Given the description of an element on the screen output the (x, y) to click on. 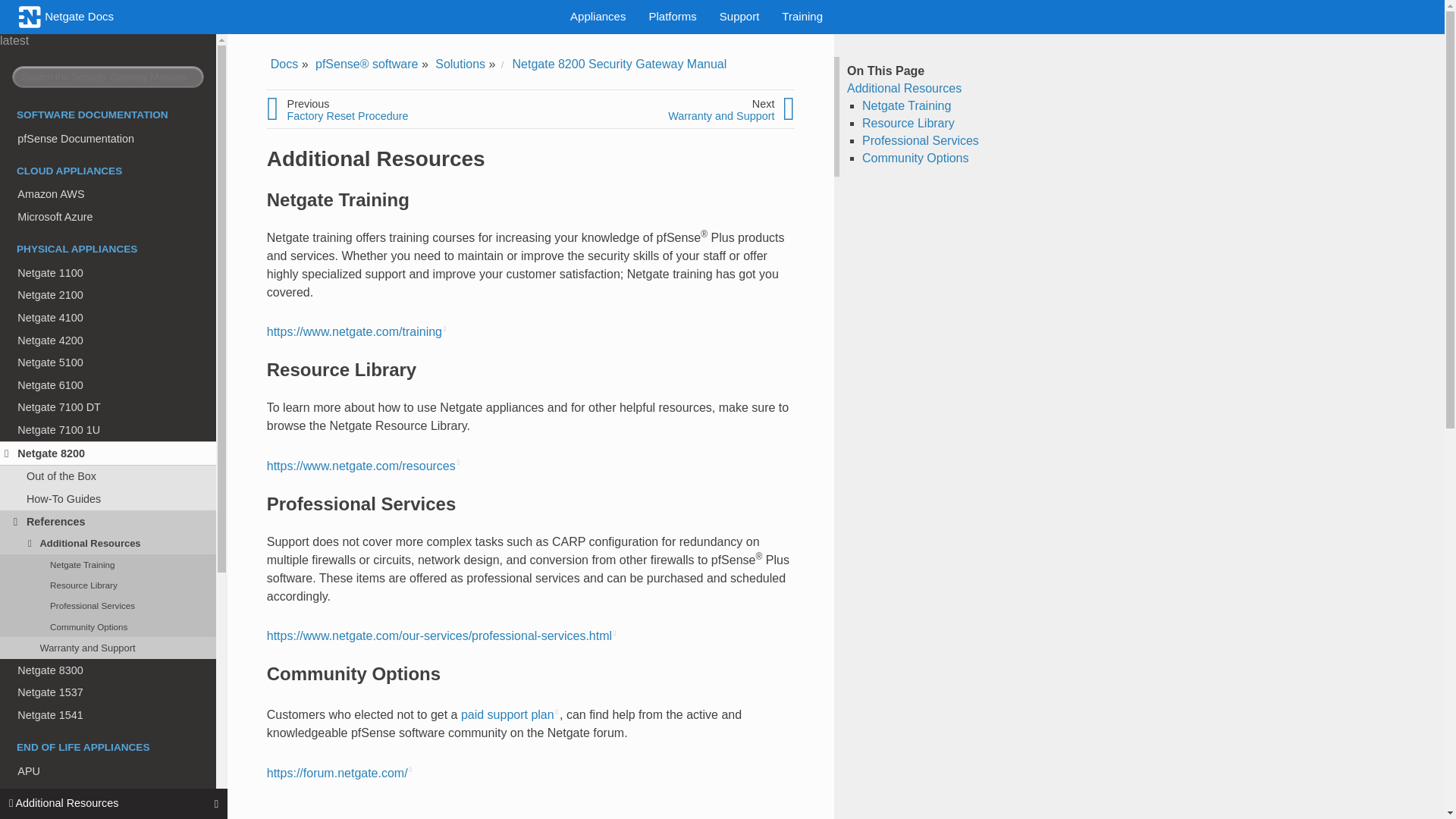
Appliances (598, 15)
Netgate 4200 (113, 340)
Professional Services (113, 606)
Netgate 7100 DT (113, 407)
Netgate 1100 (113, 272)
Netgate 8200 (113, 453)
Platforms (671, 15)
C2758 (113, 793)
Netgate 1541 (113, 714)
Netgate Logo (30, 16)
